Given the description of an element on the screen output the (x, y) to click on. 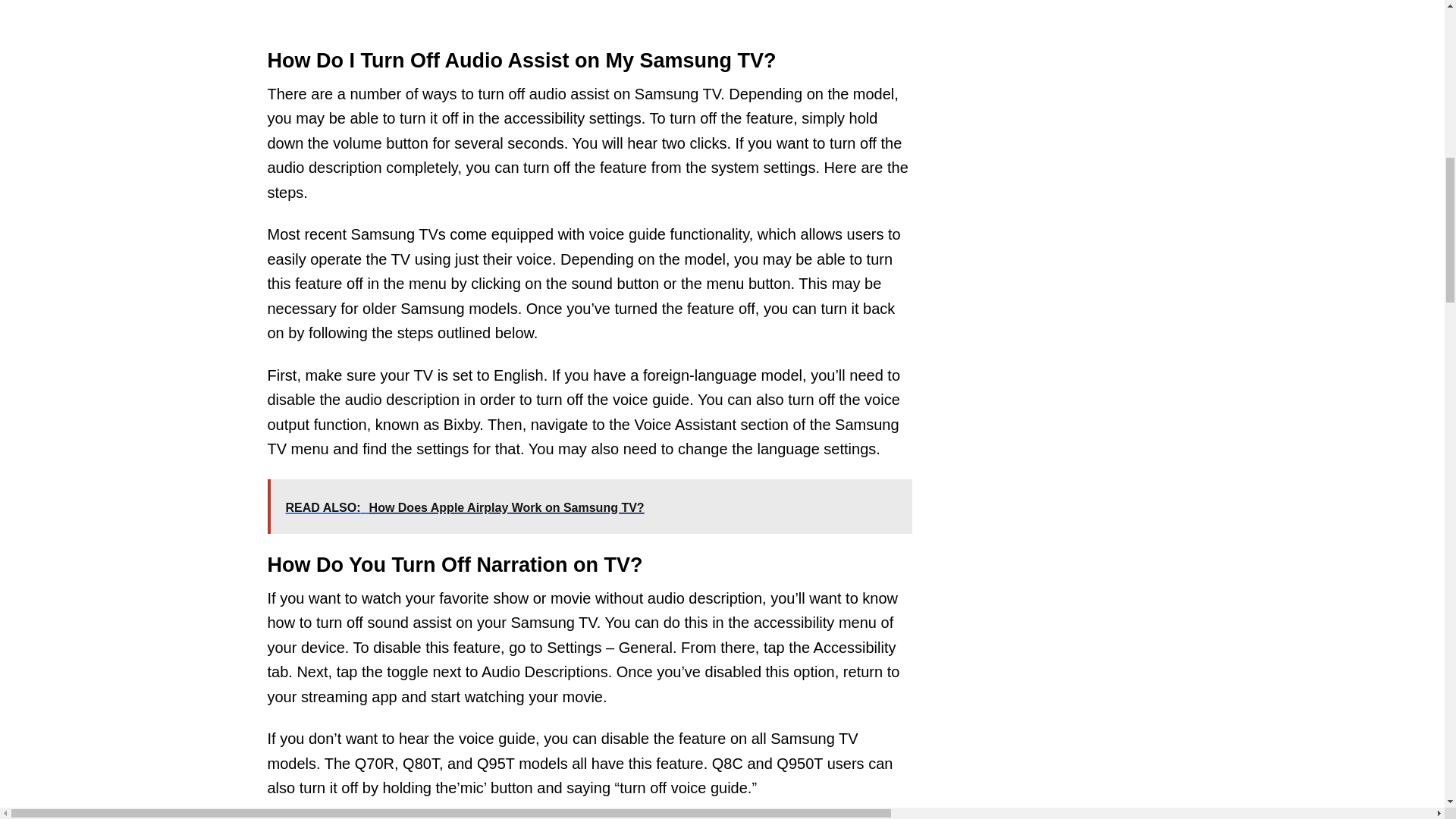
READ ALSO:  How Does Apple Airplay Work on Samsung TV? (588, 506)
